Given the description of an element on the screen output the (x, y) to click on. 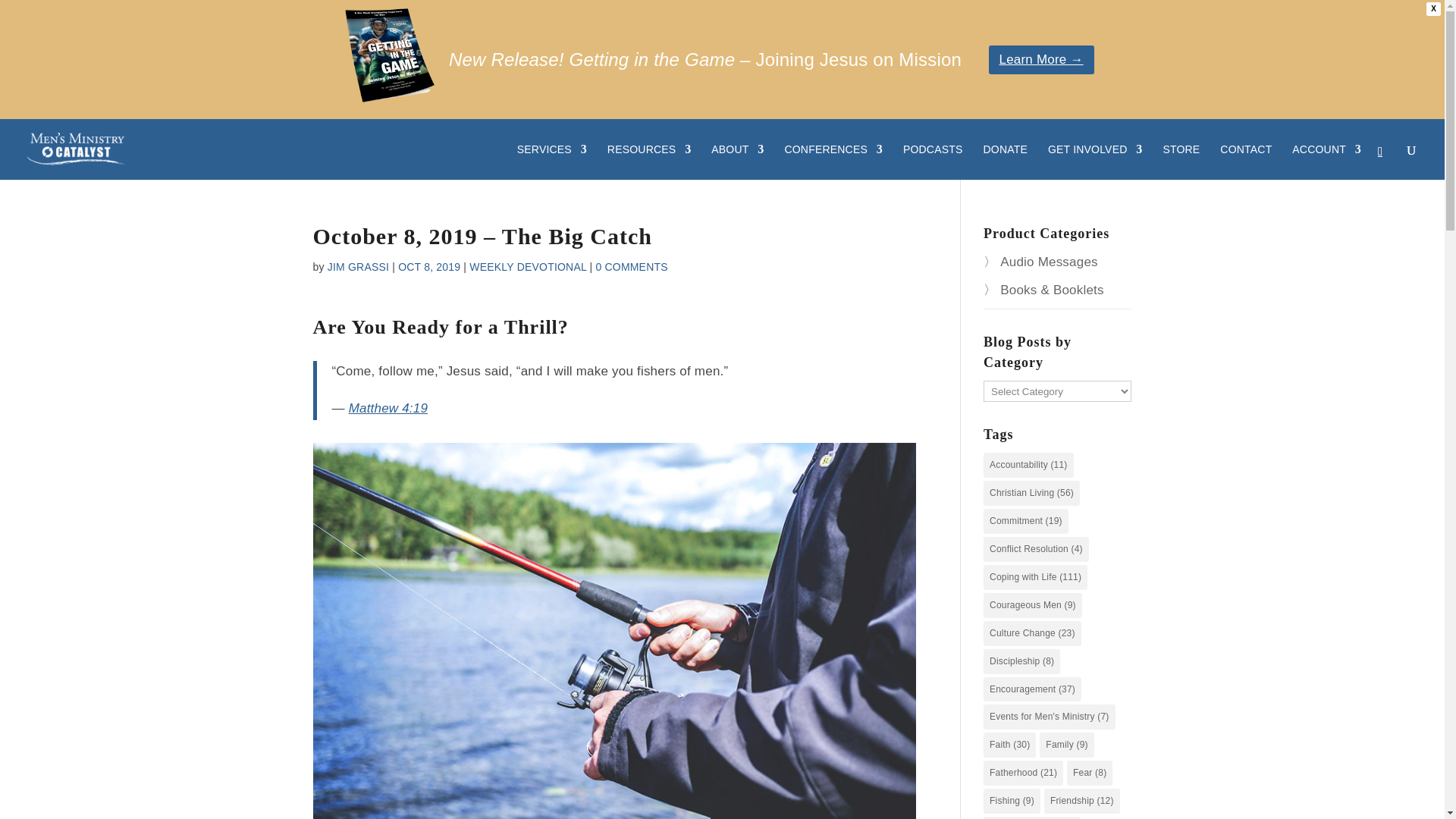
Posts by Jim Grassi (357, 266)
RESOURCES (648, 161)
SERVICES (551, 161)
ABOUT (736, 161)
